Given the description of an element on the screen output the (x, y) to click on. 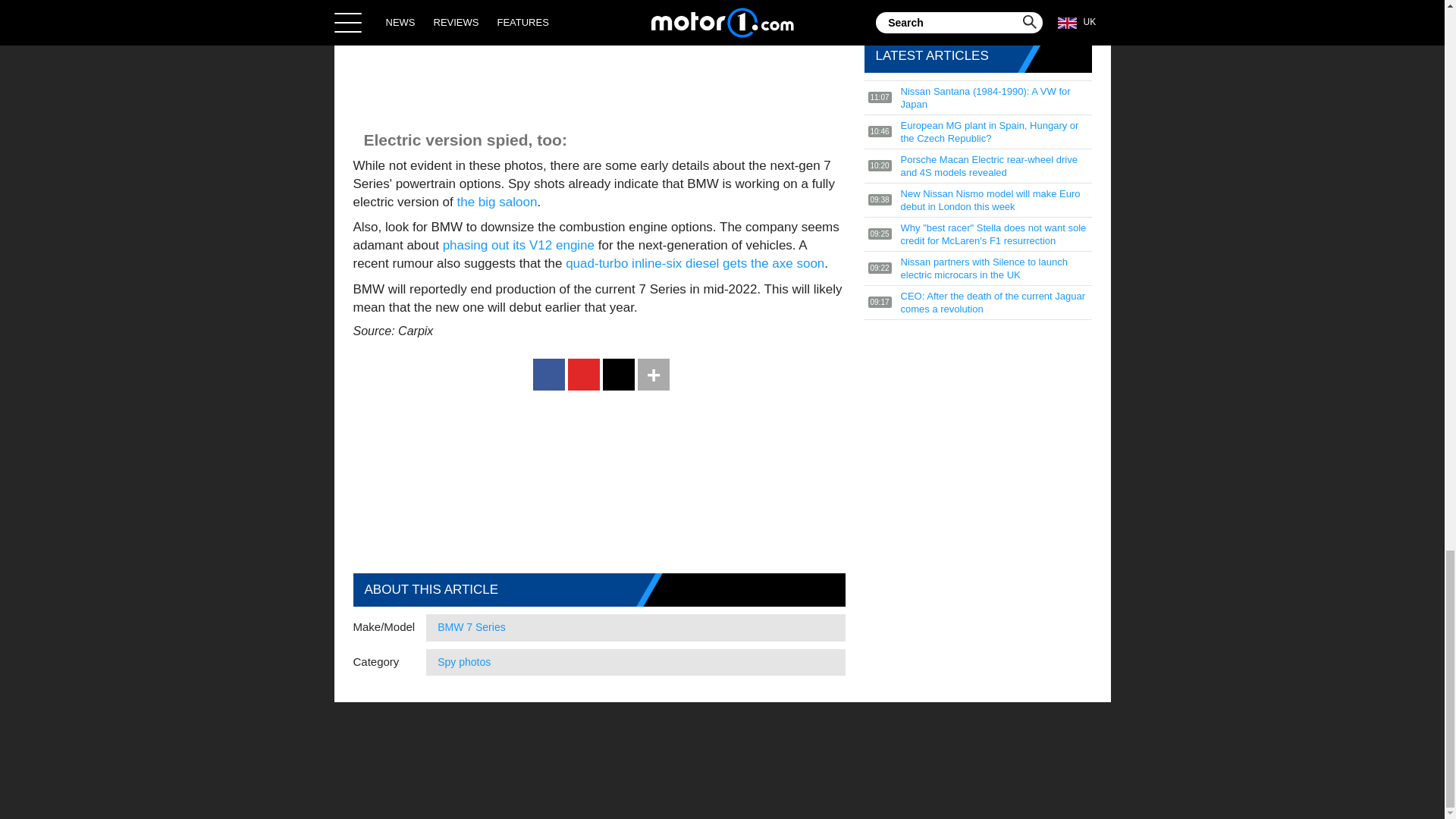
phasing out its V12 engine (518, 245)
quad-turbo inline-six diesel gets the axe soon (695, 263)
the big saloon (497, 201)
